Given the description of an element on the screen output the (x, y) to click on. 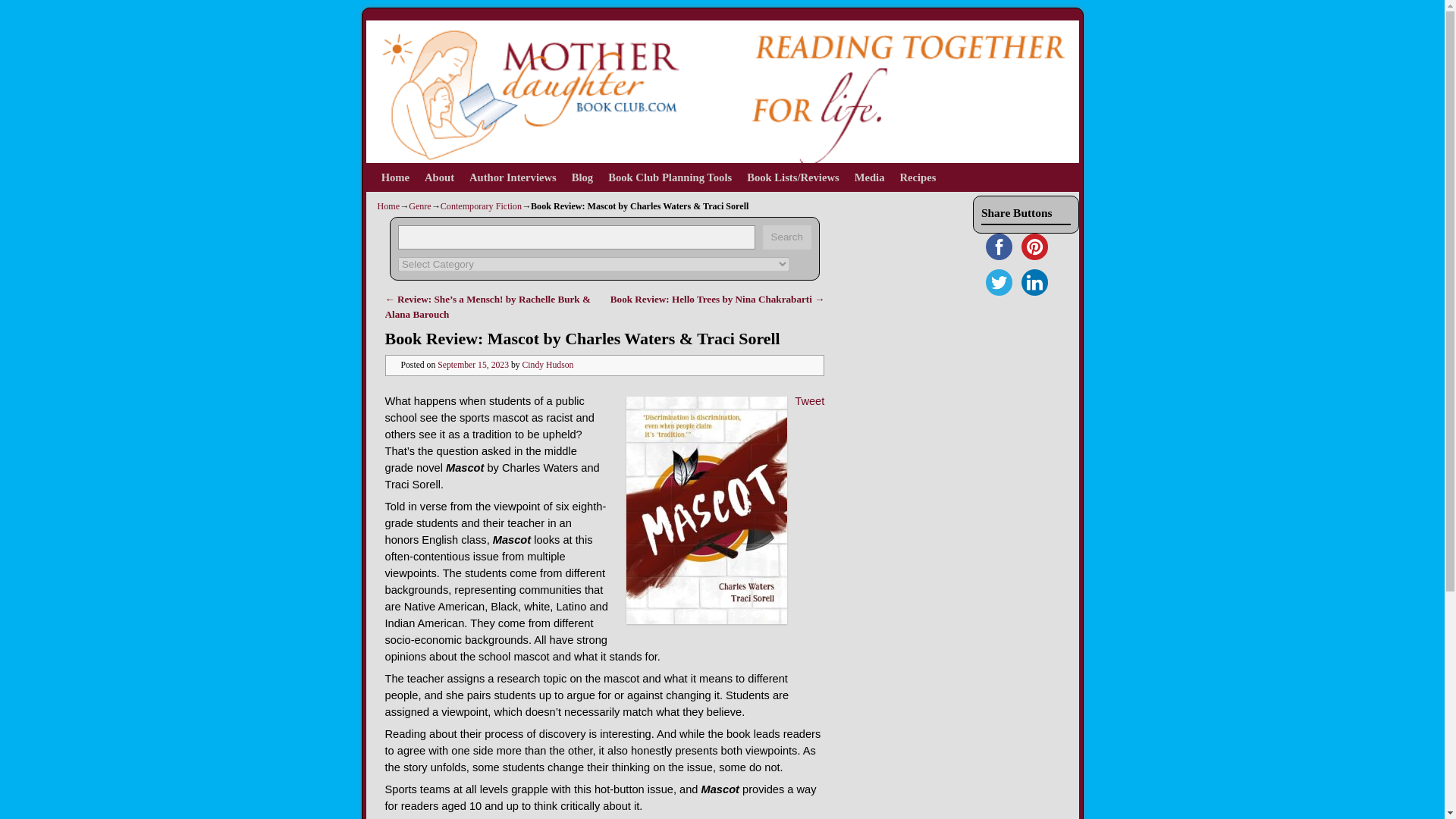
Media (869, 176)
Contemporary Fiction (481, 205)
Cindy Hudson (547, 365)
facebook (998, 246)
Search (786, 237)
Genre (419, 205)
Tweet (809, 400)
Book Club Planning Tools (669, 176)
4:56 am (473, 365)
September 15, 2023 (473, 365)
